Given the description of an element on the screen output the (x, y) to click on. 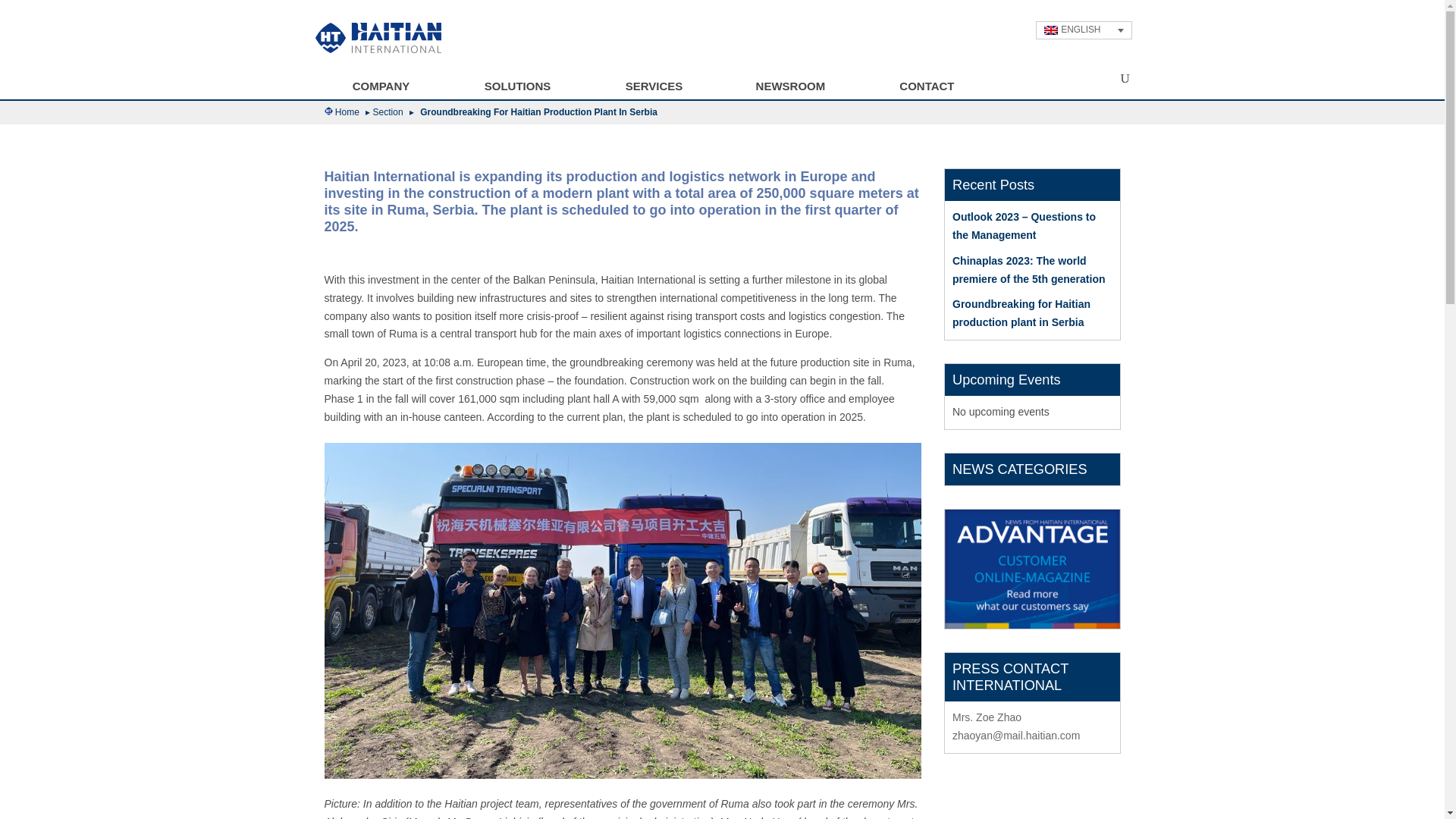
SOLUTIONS (517, 87)
NEWSROOM (789, 87)
ENGLISH (1083, 30)
Section (389, 111)
Search (22, 11)
CONTACT (926, 87)
SERVICES (652, 87)
Groundbreaking for Haitian production plant in Serbia (1021, 313)
Home (348, 111)
